Given the description of an element on the screen output the (x, y) to click on. 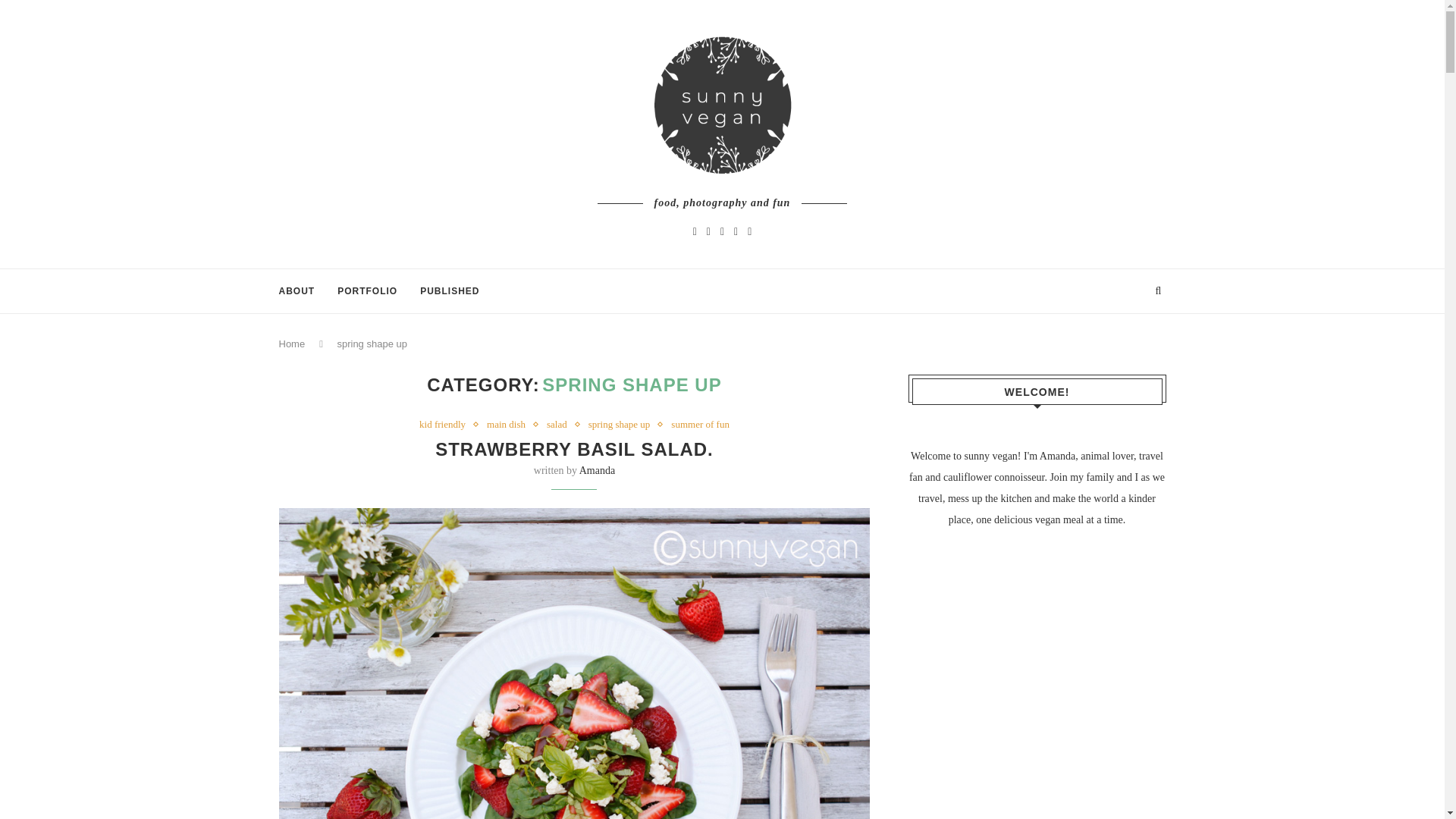
spring shape up (623, 424)
STRAWBERRY BASIL SALAD. (574, 448)
summer of fun (700, 424)
main dish (509, 424)
Amanda (596, 470)
salad (561, 424)
PORTFOLIO (367, 290)
kid friendly (446, 424)
PUBLISHED (449, 290)
Home (292, 343)
